Given the description of an element on the screen output the (x, y) to click on. 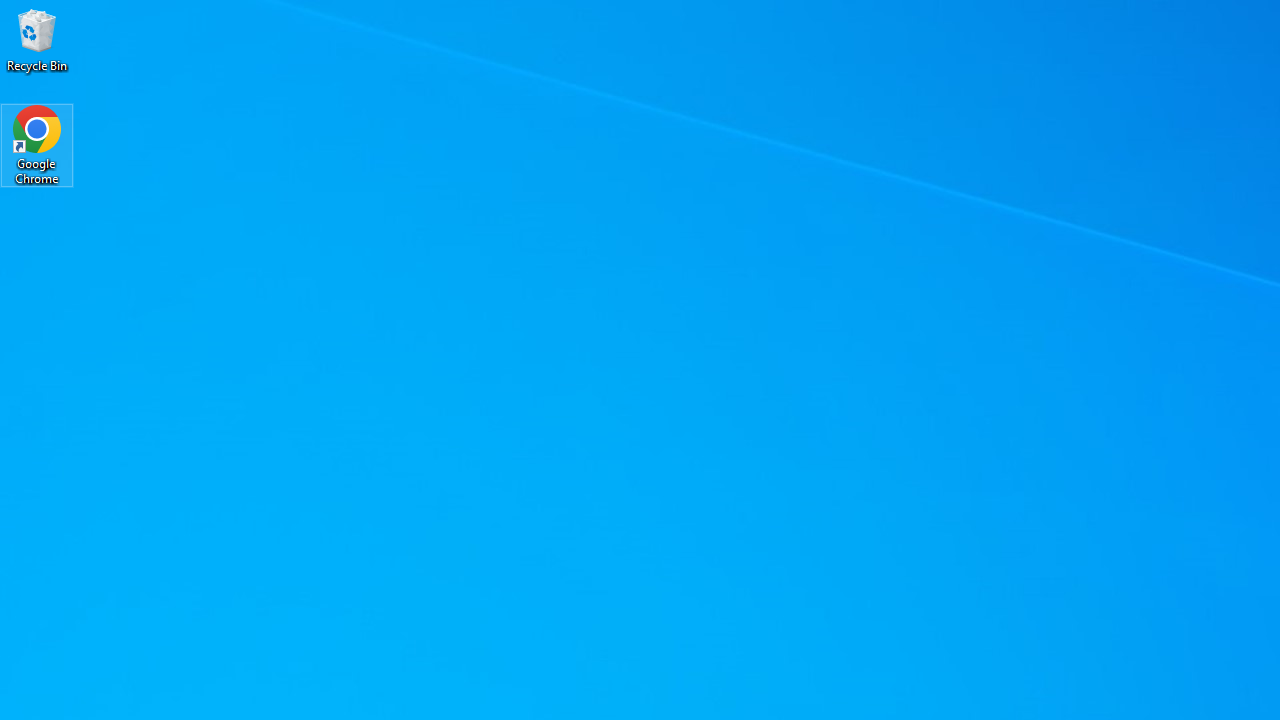
Recycle Bin (37, 39)
Google Chrome (37, 144)
